Given the description of an element on the screen output the (x, y) to click on. 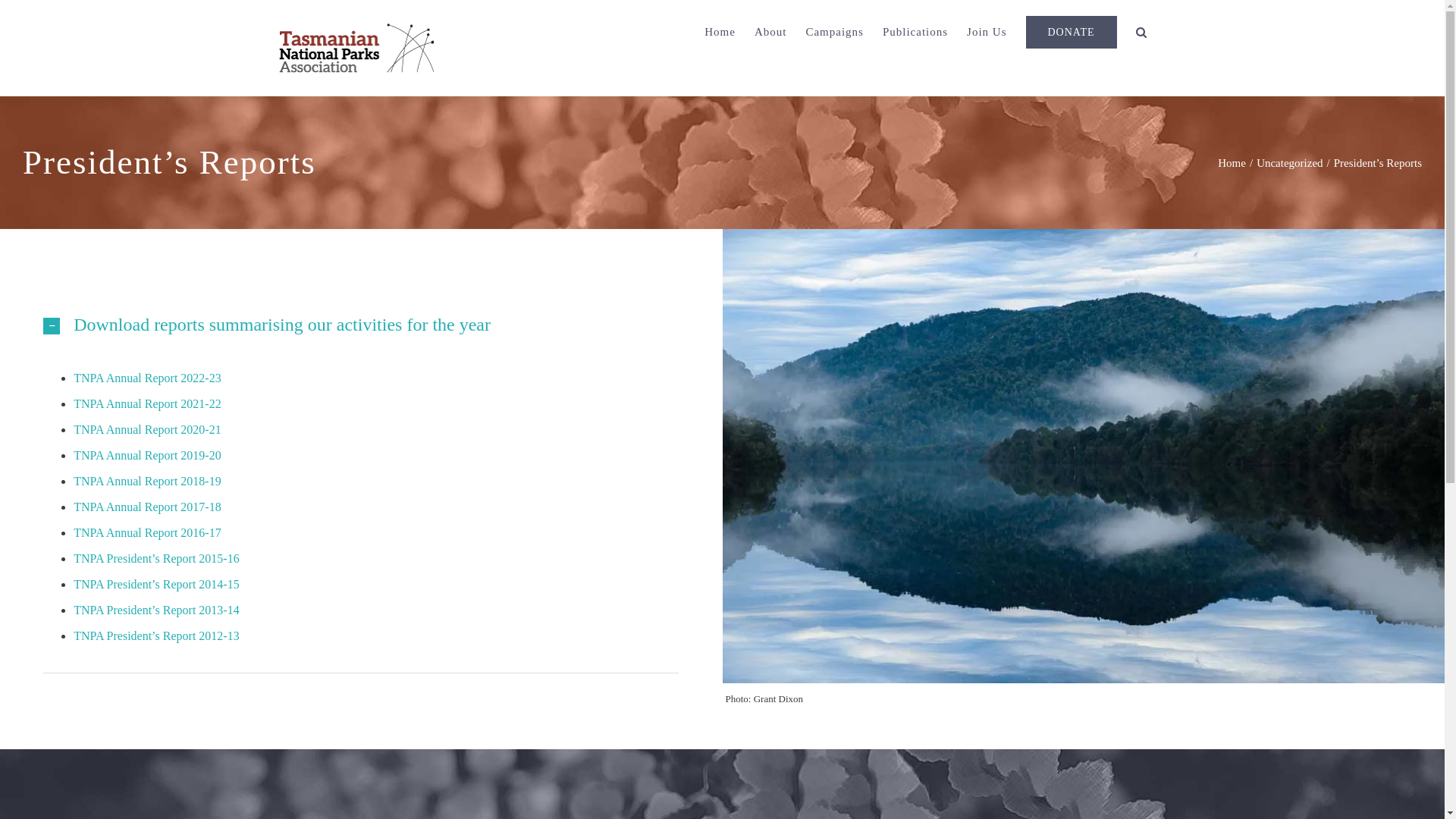
TNPA Annual Report 2018-19 Element type: text (147, 480)
TNPA Annual Report 2019-20 Element type: text (147, 454)
Campaigns Element type: text (834, 31)
Download reports summarising our activities for the year Element type: text (360, 324)
TNPA Annual Report 2021-22 Element type: text (147, 403)
Search Element type: hover (1141, 31)
TNPA Annual Report 2020-21 Element type: text (147, 429)
Home Element type: text (719, 31)
TNPA Annual Report 2017-18 Element type: text (147, 506)
Publications Element type: text (914, 31)
DONATE Element type: text (1070, 31)
Join Us Element type: text (986, 31)
TNPA Annual Report 2016-17 Element type: text (147, 532)
Uncategorized Element type: text (1289, 162)
About Element type: text (770, 31)
Home Element type: text (1231, 162)
TNPA Annual Report 2022-23 Element type: text (147, 377)
